Given the description of an element on the screen output the (x, y) to click on. 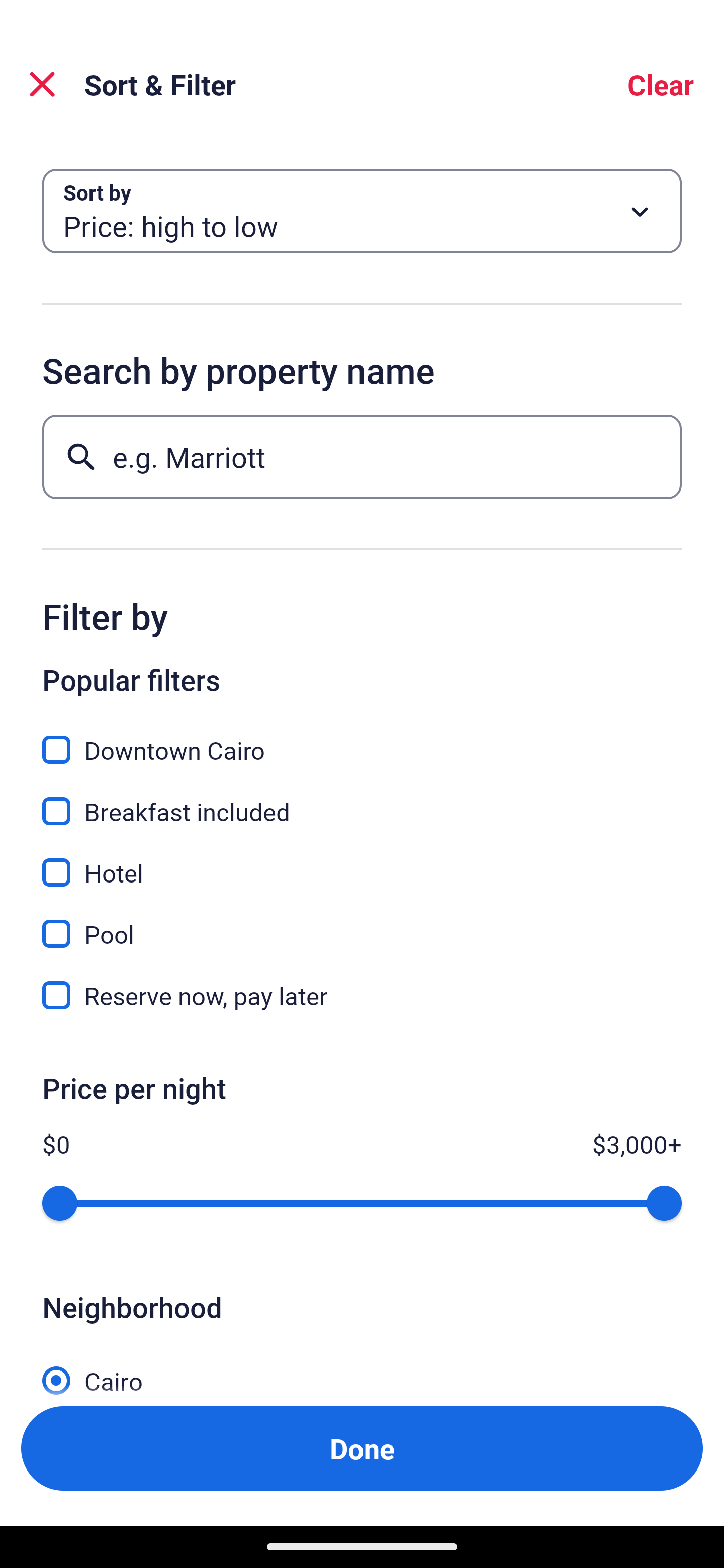
Close Sort and Filter (42, 84)
Clear (660, 84)
Sort by Button Price: high to low (361, 211)
e.g. Marriott Button (361, 455)
Downtown Cairo, Downtown Cairo (361, 738)
Breakfast included, Breakfast included (361, 800)
Hotel, Hotel (361, 861)
Pool, Pool (361, 922)
Reserve now, pay later, Reserve now, pay later (361, 995)
Apply and close Sort and Filter Done (361, 1448)
